Given the description of an element on the screen output the (x, y) to click on. 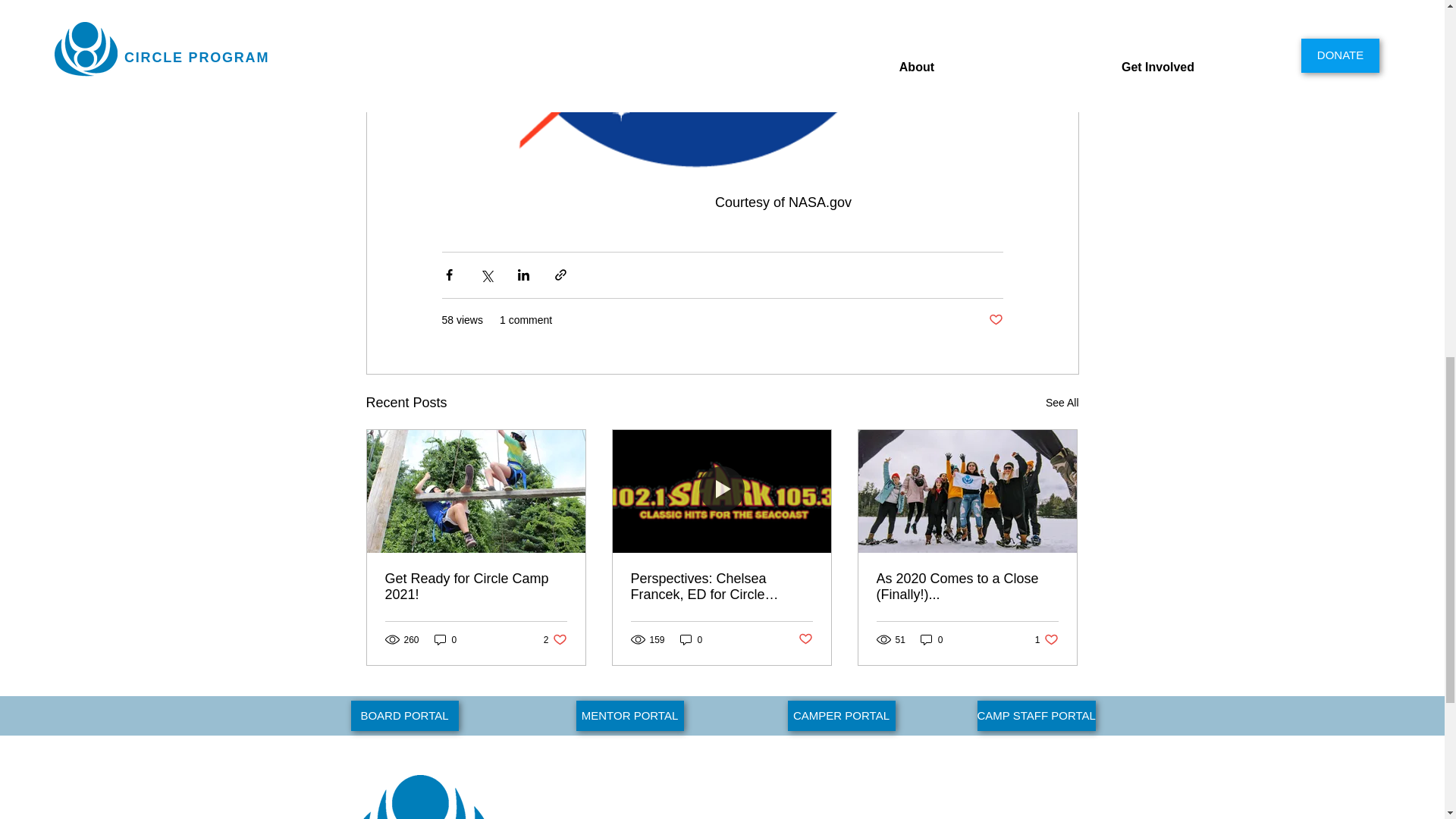
0 (445, 639)
Post not marked as liked (804, 639)
0 (691, 639)
CAMP STAFF PORTAL (1035, 716)
See All (1046, 639)
CIRCLE PROGRAM (1061, 403)
BOARD PORTAL (548, 816)
CAMPER PORTAL (404, 716)
Post not marked as liked (555, 639)
0 (841, 716)
Get Ready for Circle Camp 2021! (995, 320)
MENTOR PORTAL (931, 639)
